Given the description of an element on the screen output the (x, y) to click on. 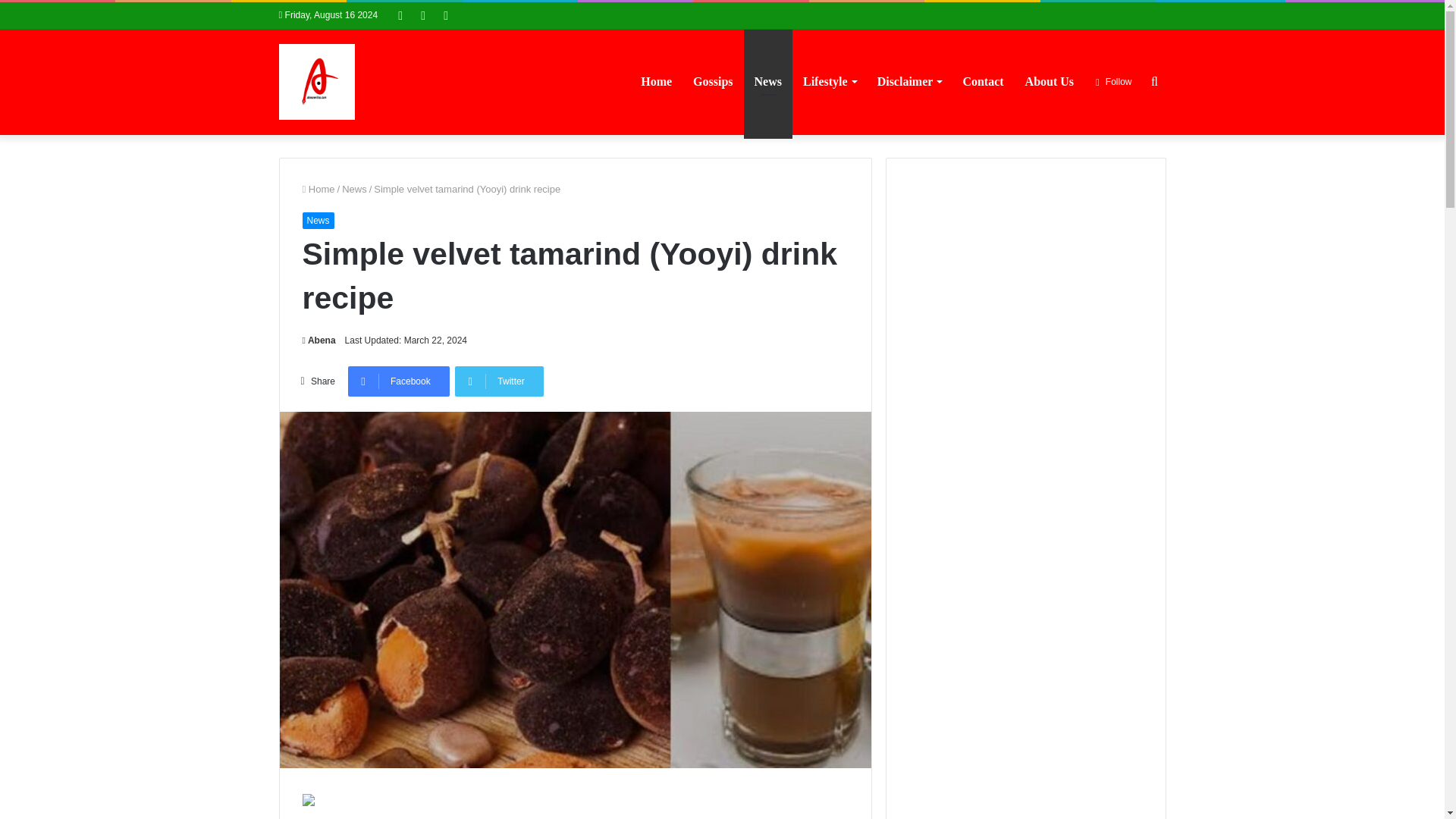
News (317, 220)
Twitter (498, 381)
AbenaWrites (317, 81)
Abena (317, 339)
Twitter (498, 381)
Abena (317, 339)
Facebook (398, 381)
News (354, 188)
Facebook (398, 381)
Home (317, 188)
